Given the description of an element on the screen output the (x, y) to click on. 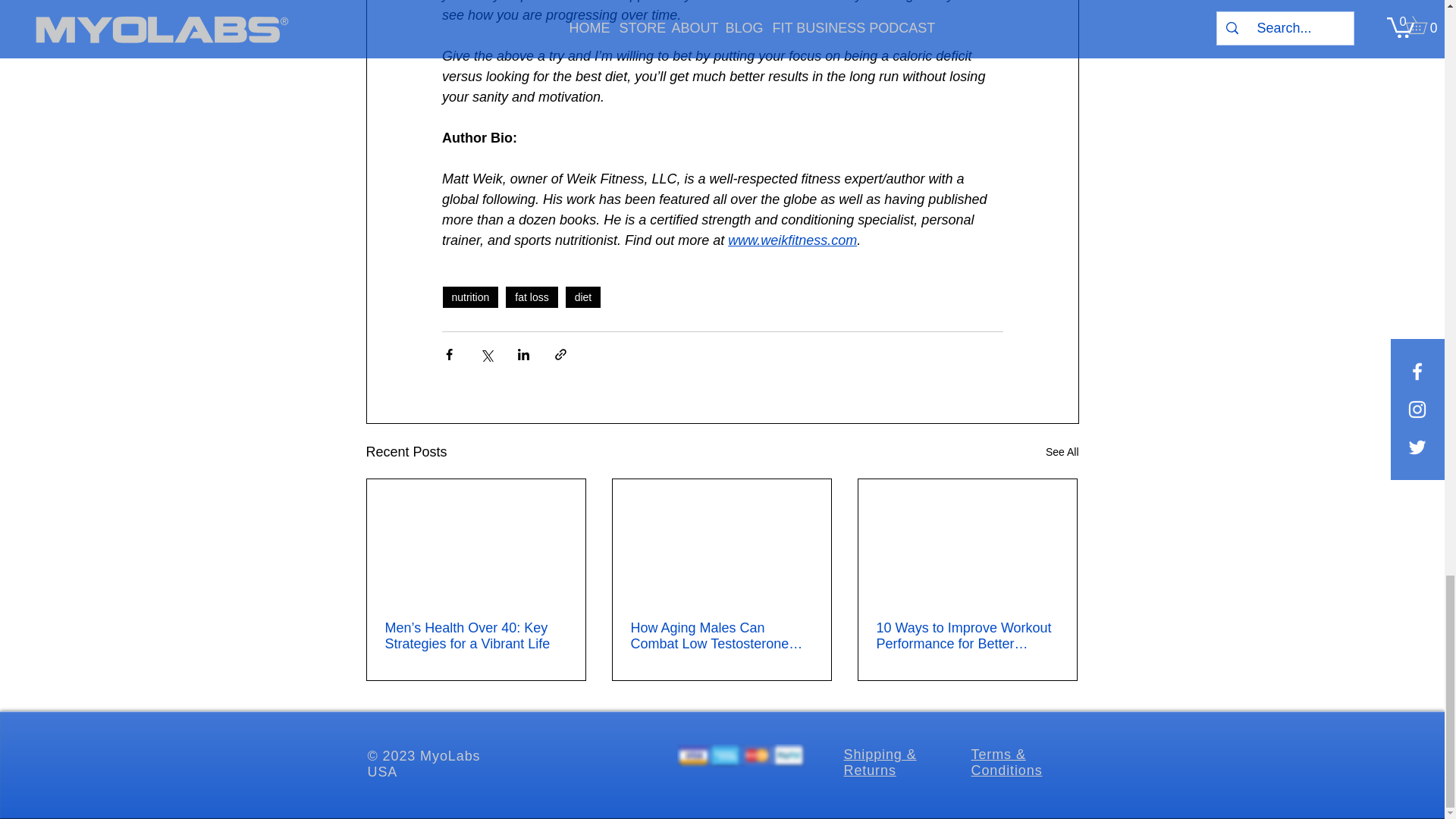
How Aging Males Can Combat Low Testosterone and Weight Gain (721, 635)
10 Ways to Improve Workout Performance for Better Results (967, 635)
See All (1061, 452)
www.weikfitness.com (792, 240)
diet (583, 296)
fat loss (531, 296)
nutrition (470, 296)
